Given the description of an element on the screen output the (x, y) to click on. 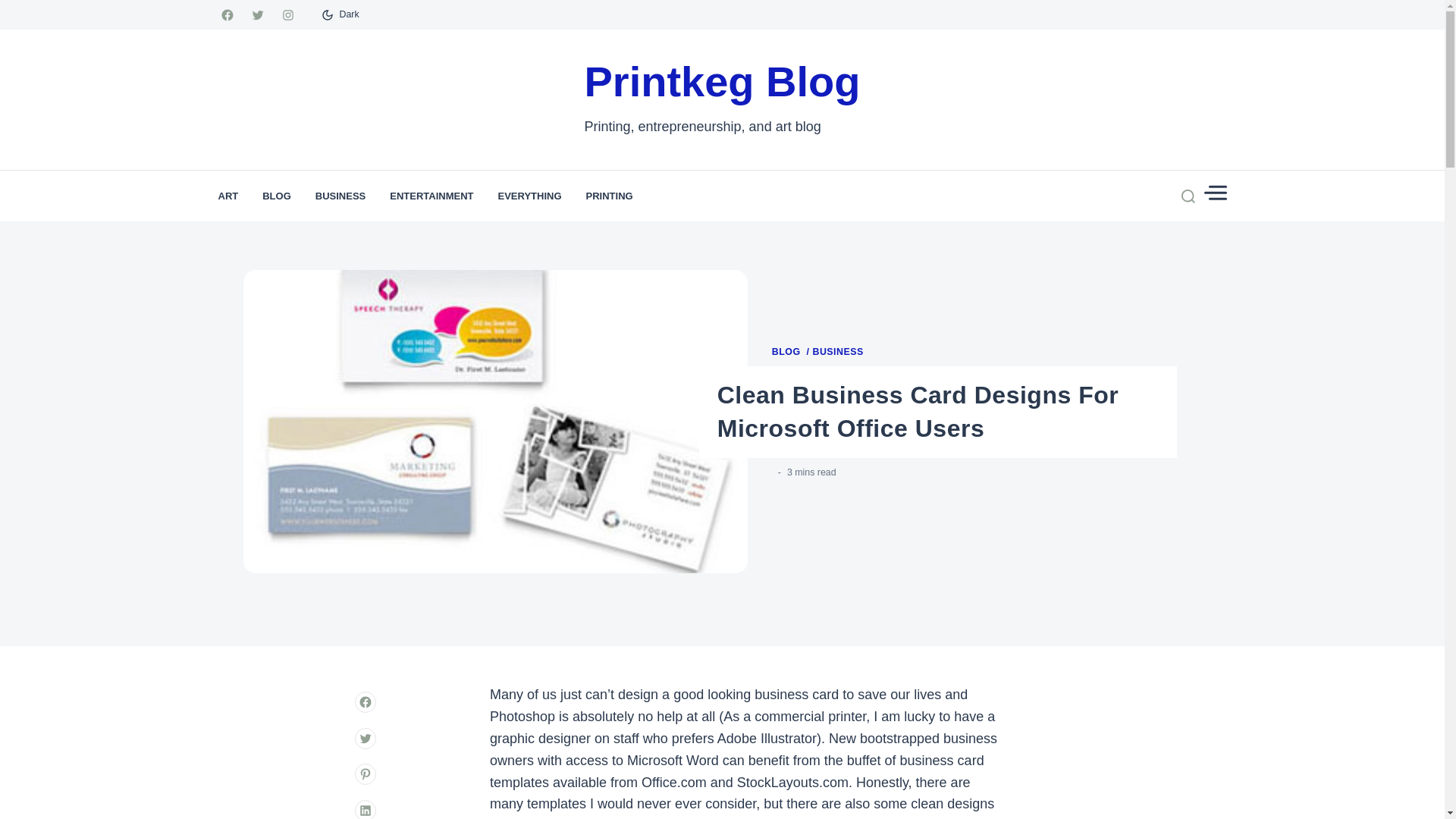
ENTERTAINMENT (431, 195)
Search (1150, 234)
BLOG (790, 352)
BUSINESS (340, 195)
PRINTING (609, 195)
BUSINESS (837, 352)
EVERYTHING (529, 195)
Printkeg Blog (721, 81)
